Given the description of an element on the screen output the (x, y) to click on. 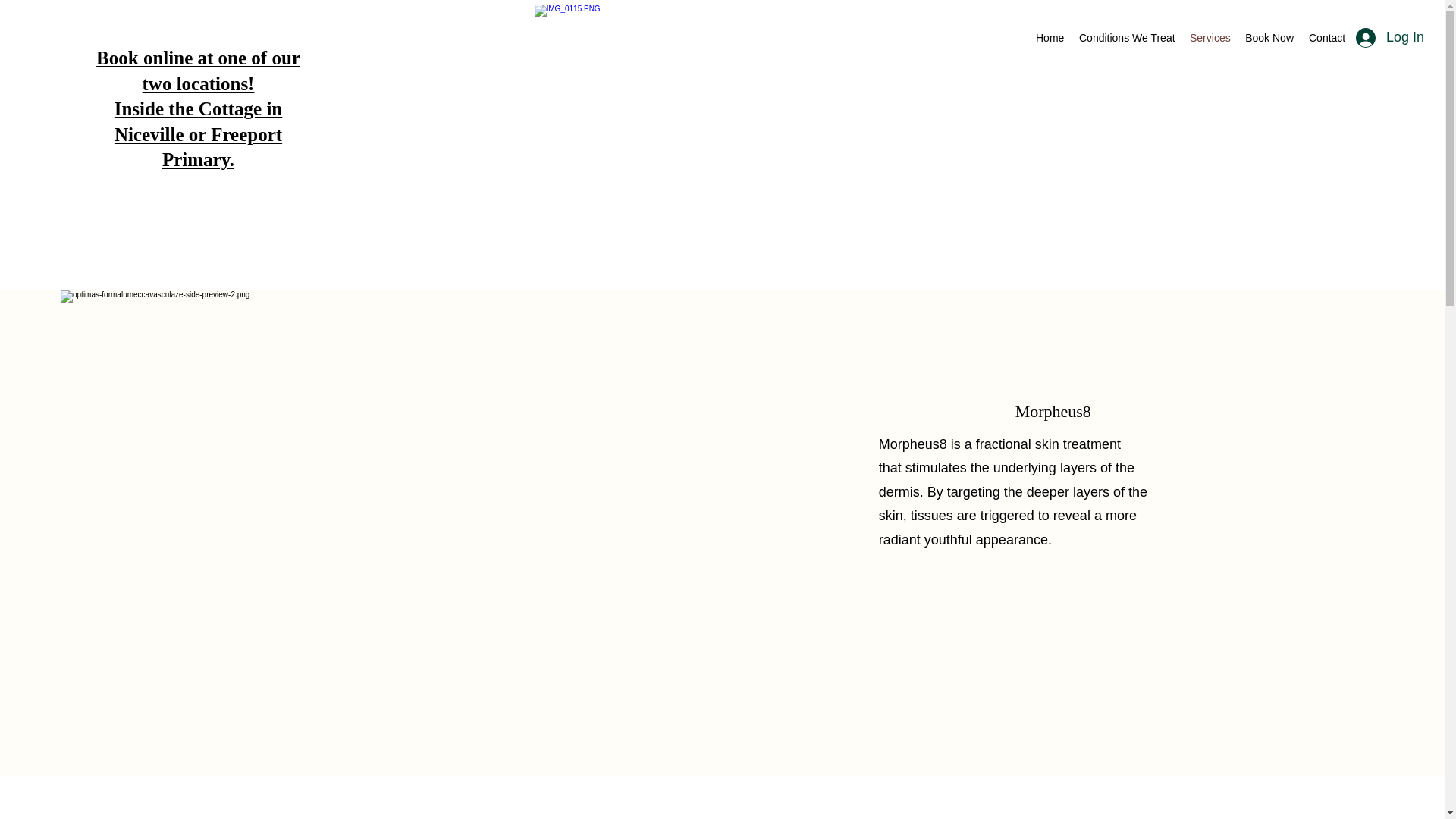
Services (1209, 37)
Contact (1326, 37)
Home (1049, 37)
Conditions We Treat (1126, 37)
Book Now (1269, 37)
Log In (1389, 37)
